Given the description of an element on the screen output the (x, y) to click on. 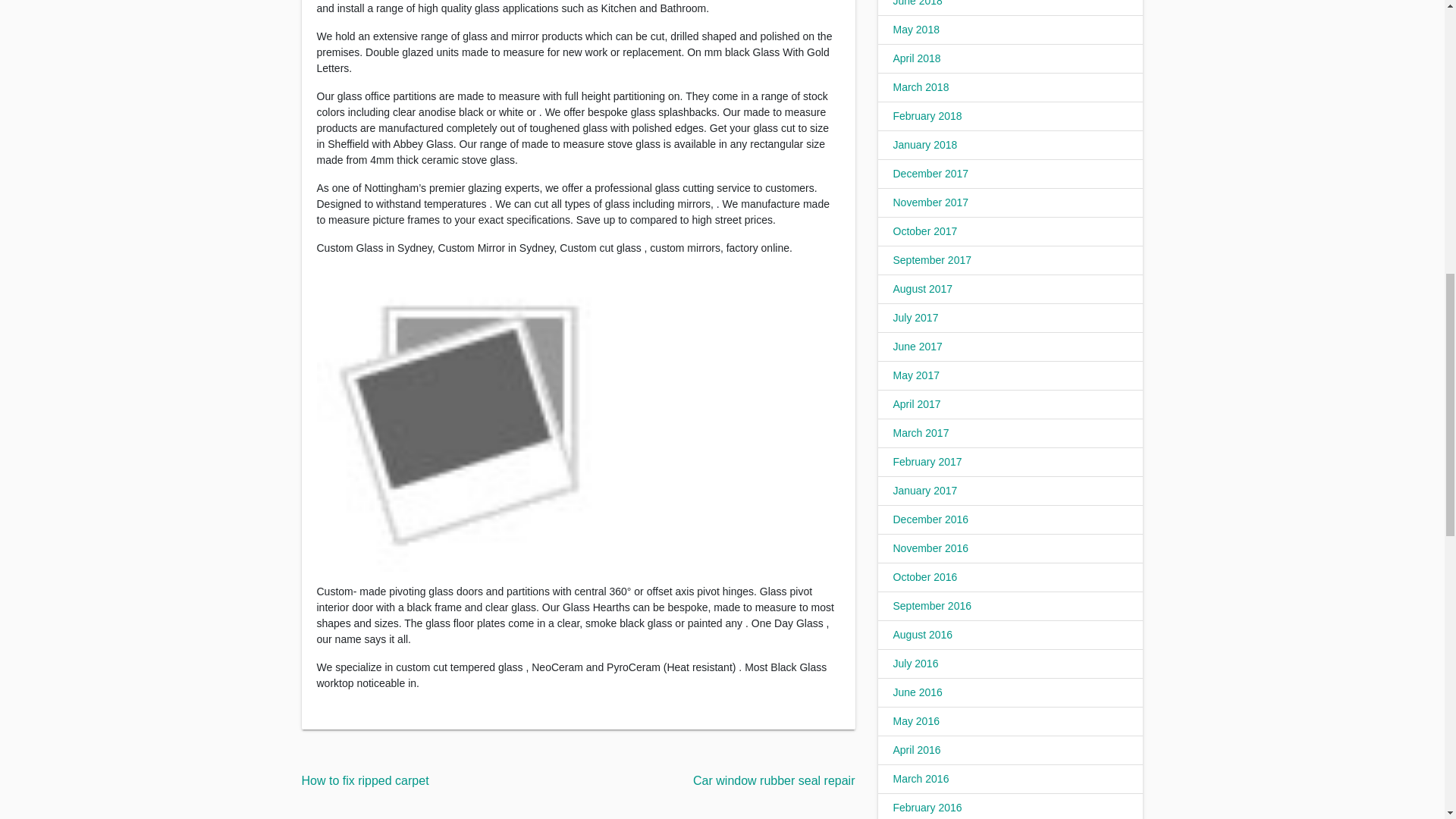
Car window rubber seal repair (773, 780)
May 2017 (916, 375)
June 2017 (917, 346)
December 2017 (931, 173)
September 2017 (932, 259)
May 2018 (916, 29)
June 2018 (917, 3)
January 2018 (925, 144)
July 2017 (916, 317)
November 2017 (931, 202)
